Given the description of an element on the screen output the (x, y) to click on. 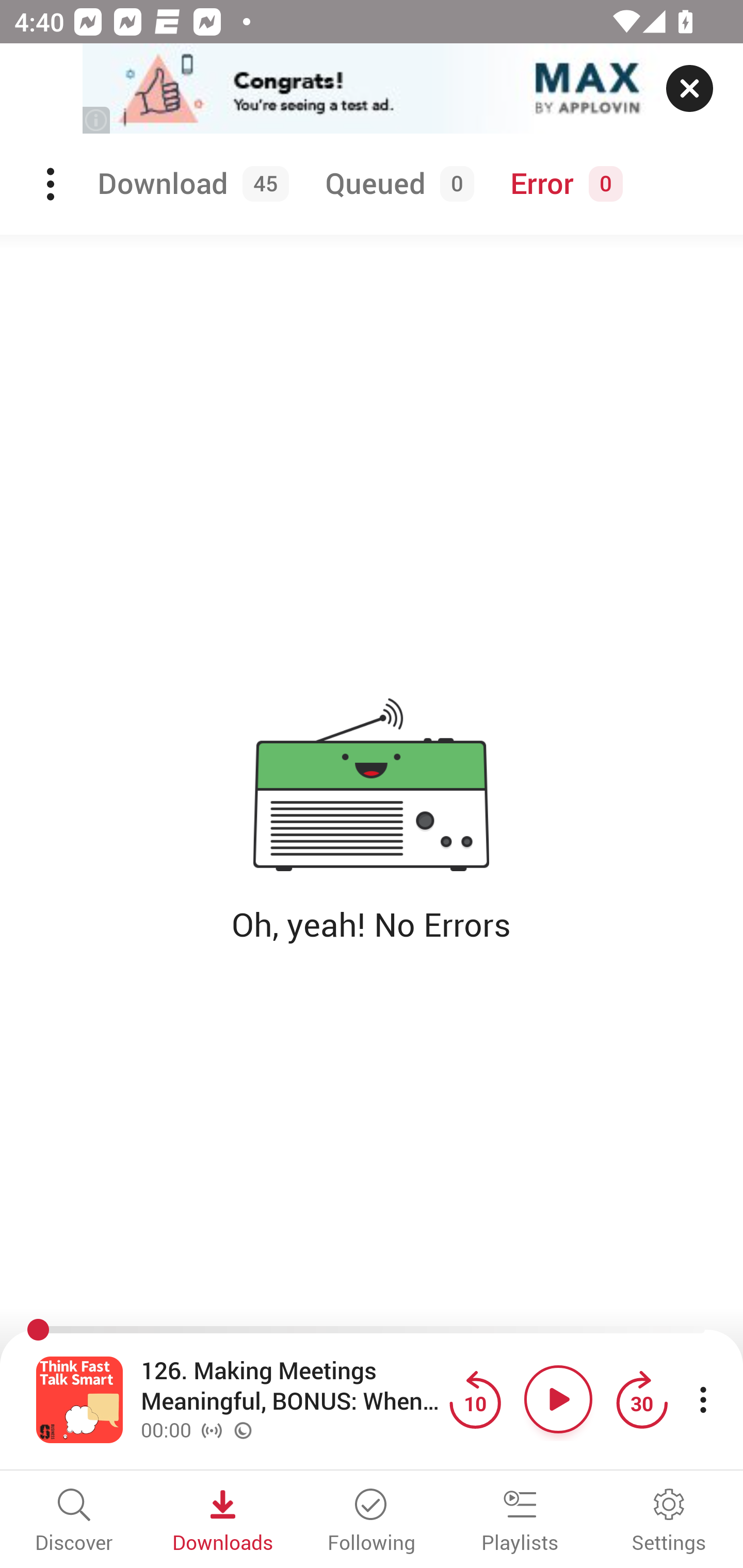
app-monetization (371, 88)
(i) (96, 119)
Menu (52, 184)
 Download 45 (189, 184)
 Queued 0 (396, 184)
 Error 0 (562, 184)
Open fullscreen player (79, 1399)
More player controls (703, 1399)
Play button (558, 1398)
Jump back (475, 1399)
Jump forward (641, 1399)
Discover (74, 1521)
Downloads (222, 1521)
Following (371, 1521)
Playlists (519, 1521)
Settings (668, 1521)
